Given the description of an element on the screen output the (x, y) to click on. 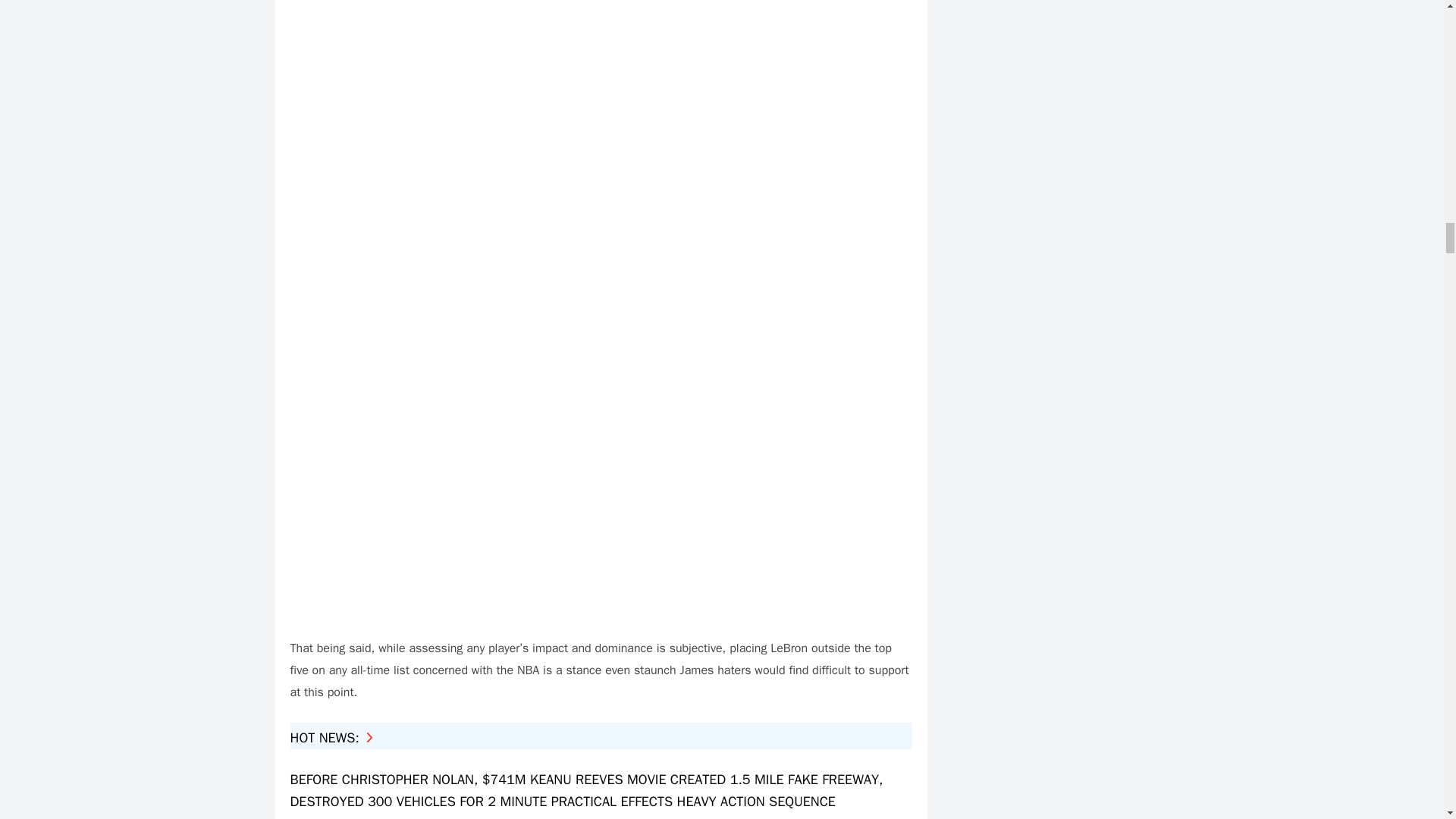
HOT NEWS: (330, 737)
